Given the description of an element on the screen output the (x, y) to click on. 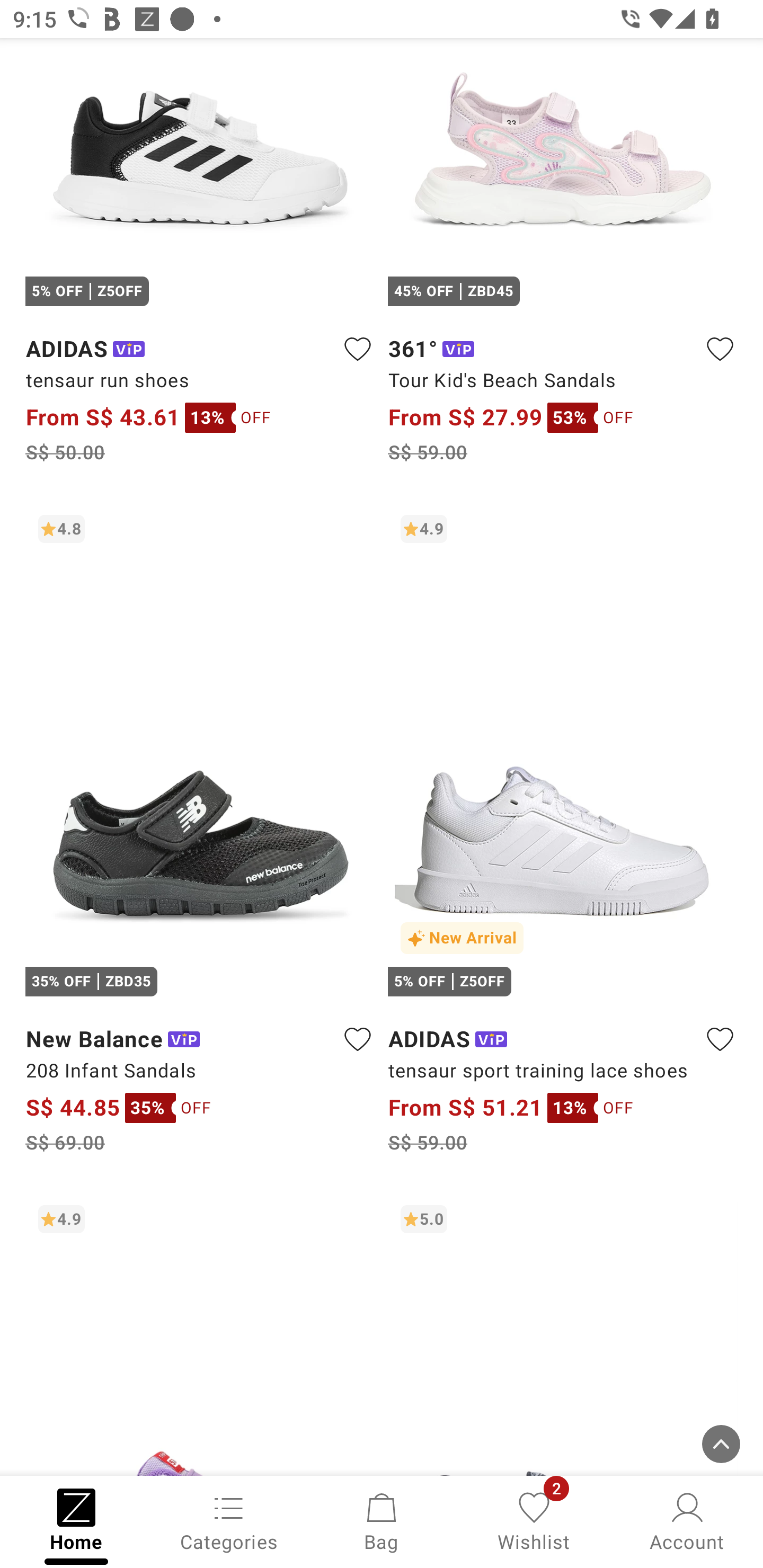
Categories (228, 1519)
Bag (381, 1519)
Wishlist, 2 new notifications Wishlist (533, 1519)
Account (686, 1519)
